Given the description of an element on the screen output the (x, y) to click on. 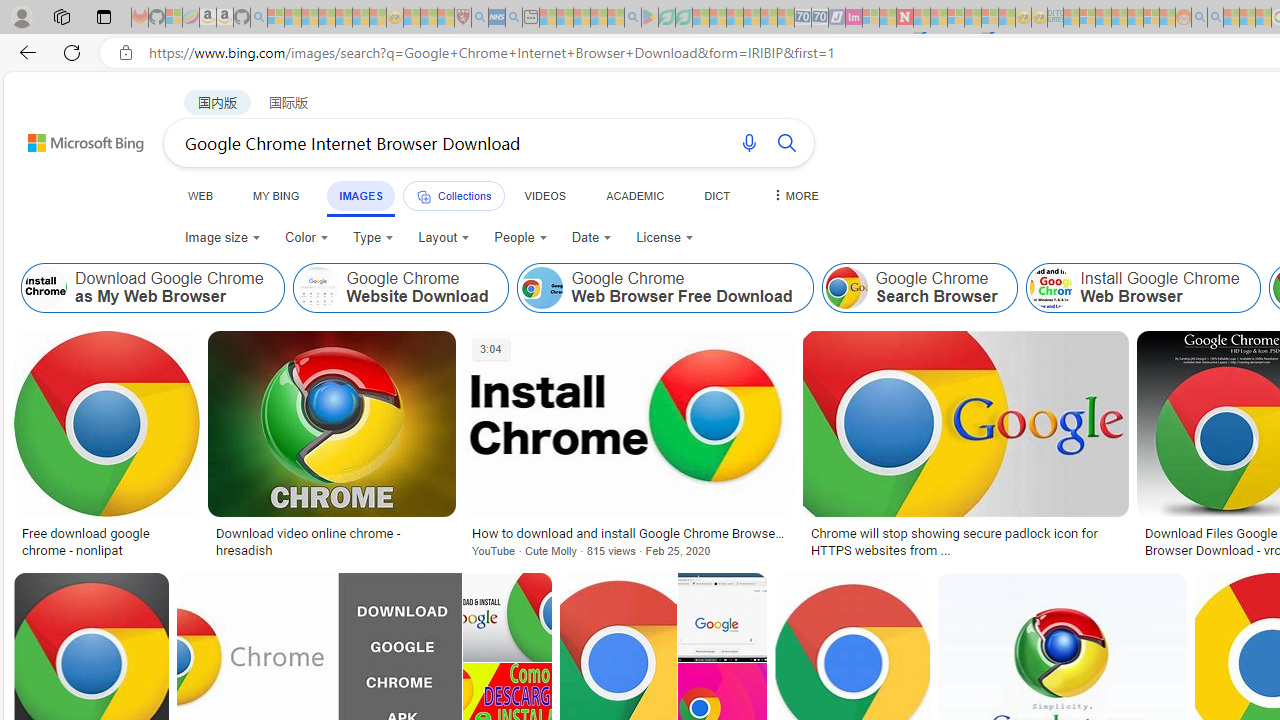
Download video online chrome - hresadish (332, 541)
License (665, 237)
People (520, 237)
DICT (717, 195)
Google Chrome Website Download (401, 287)
Dropdown Menu (793, 195)
The Weather Channel - MSN - Sleeping (309, 17)
Google Chrome Website Download (317, 287)
Terms of Use Agreement - Sleeping (666, 17)
Cheap Hotels - Save70.com - Sleeping (819, 17)
ACADEMIC (635, 195)
Free download google chrome - nonlipat (106, 541)
